Given the description of an element on the screen output the (x, y) to click on. 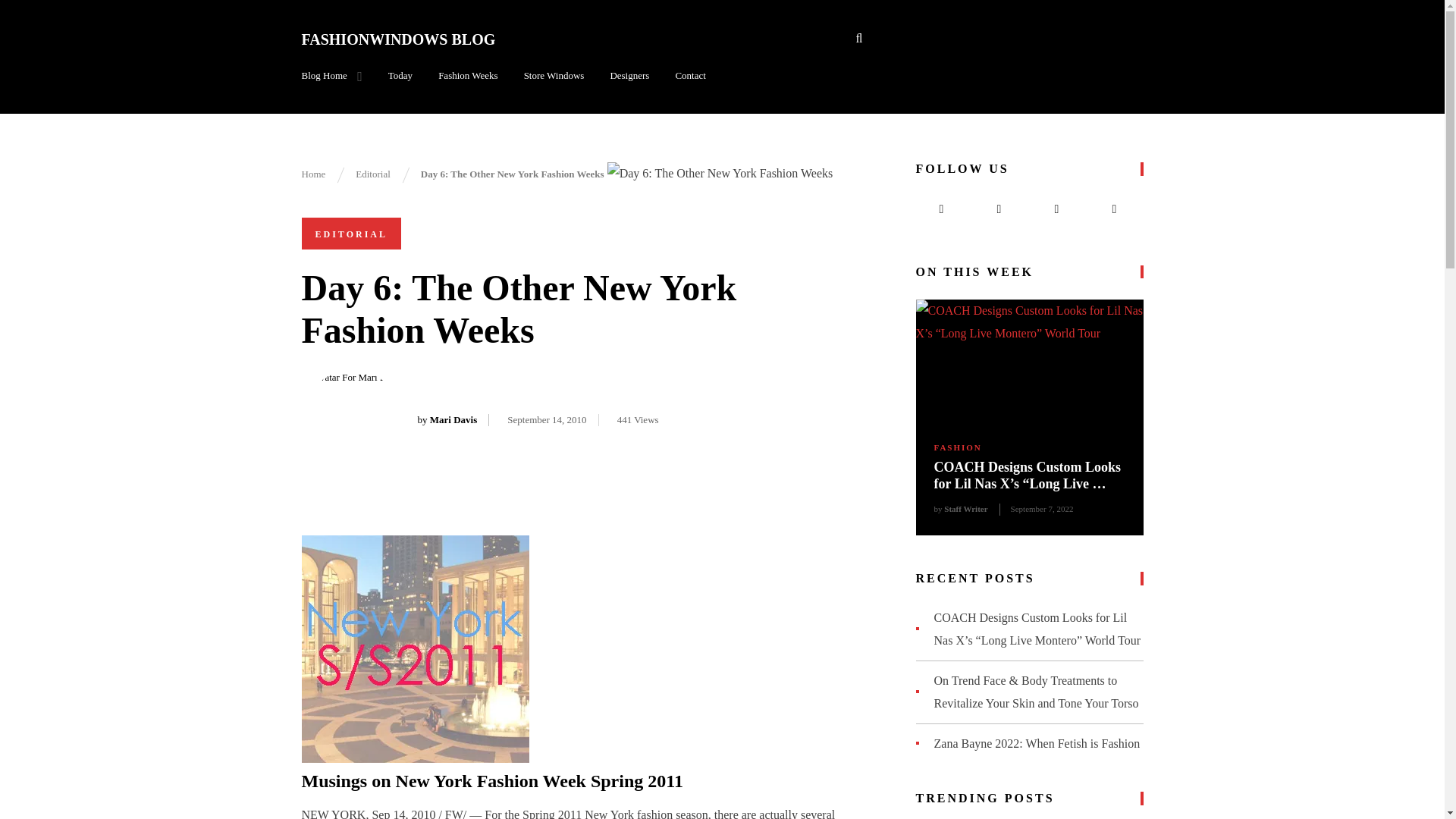
Fashion Weeks (467, 75)
Store Windows (554, 75)
Home (313, 173)
Designers (629, 75)
Gravatar for Mari Davis (352, 420)
View all posts in Editorial (351, 233)
Contact (689, 75)
FASHIONWINDOWS BLOG (398, 38)
Editorial (372, 173)
Blog Home (331, 75)
